Given the description of an element on the screen output the (x, y) to click on. 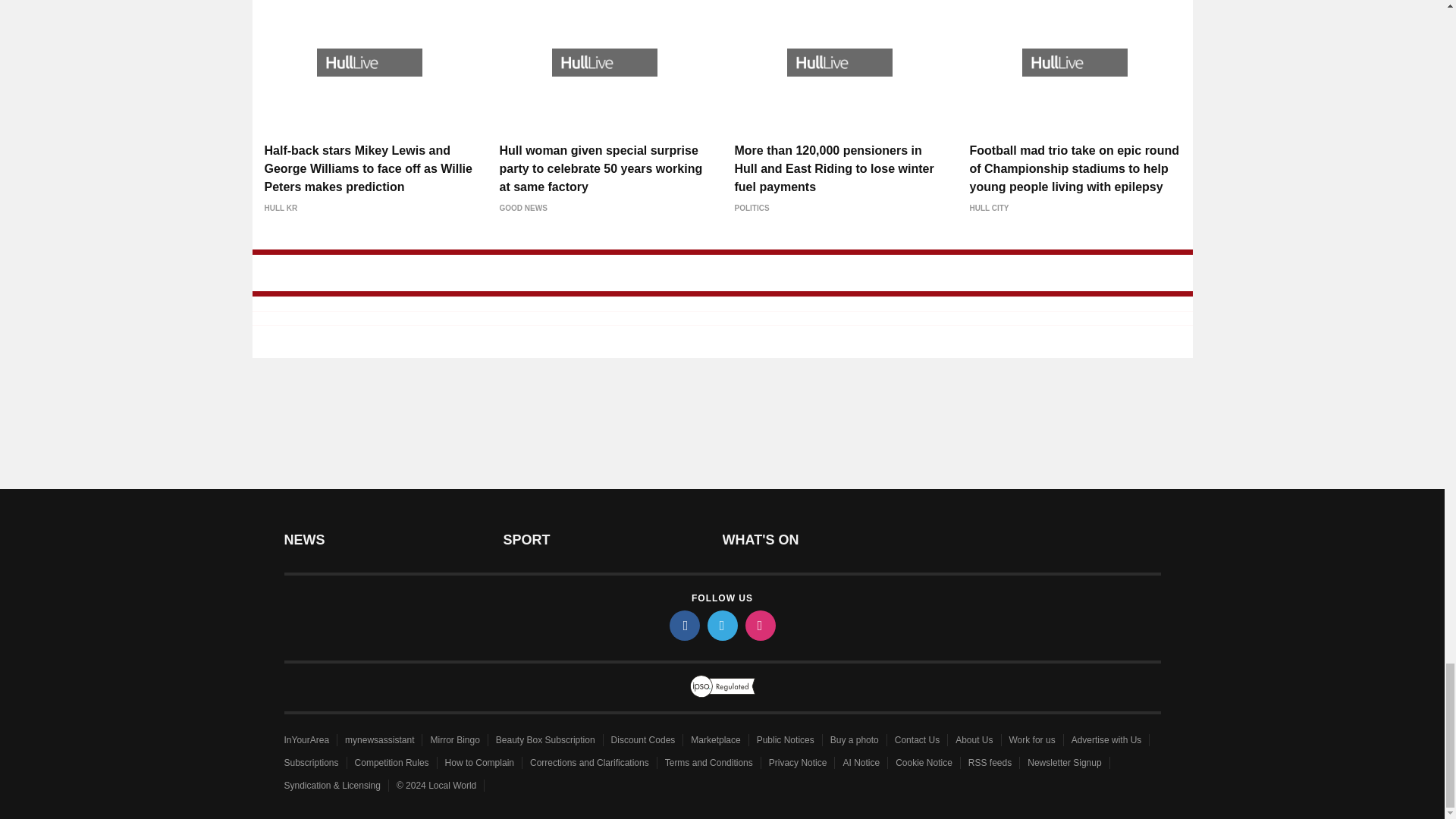
twitter (721, 625)
facebook (683, 625)
instagram (759, 625)
